Given the description of an element on the screen output the (x, y) to click on. 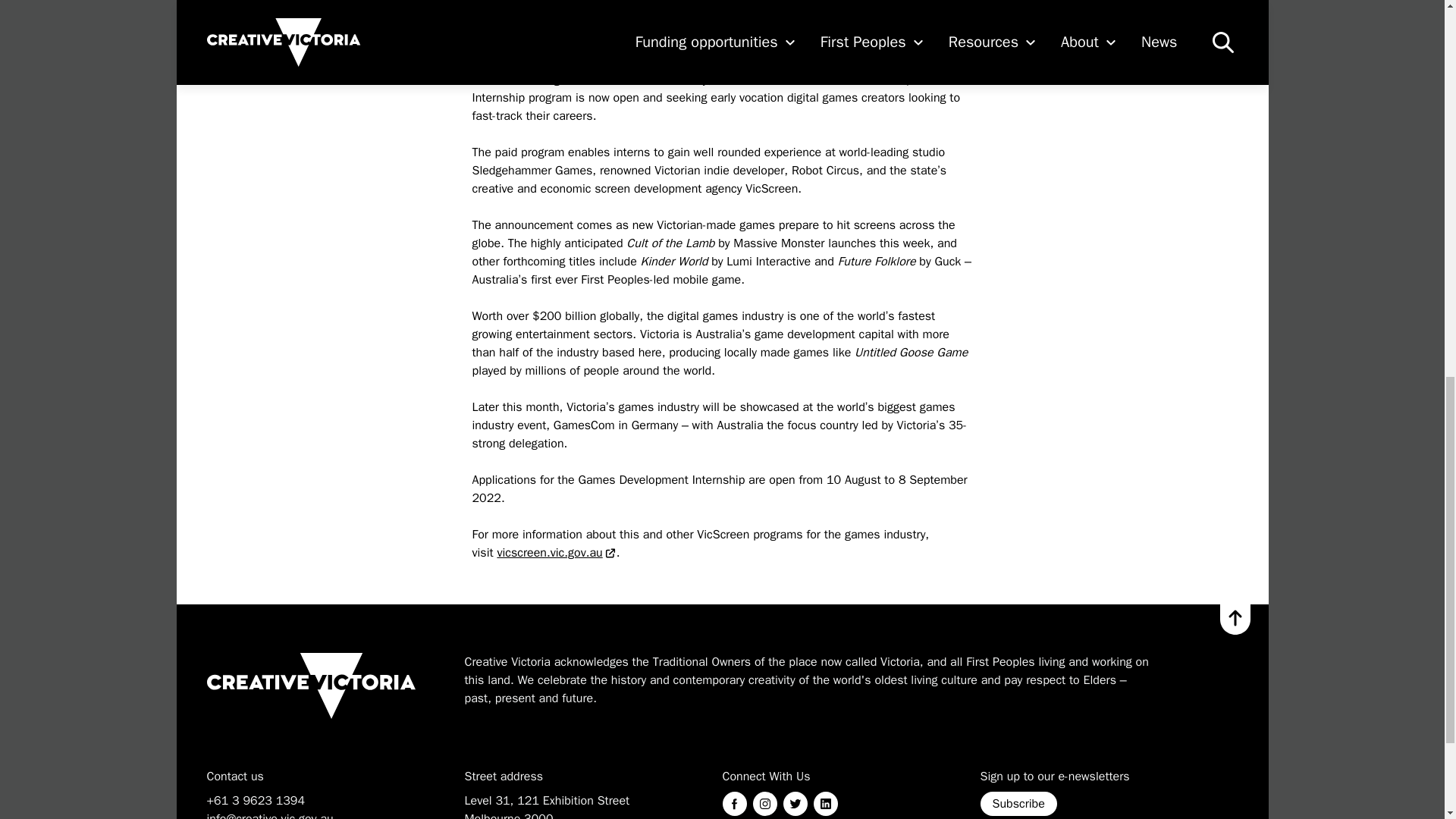
Visit the Creative Victoria homepage (310, 685)
Visit the Creative Victoria Facebook page (733, 803)
Opens VicScreen (555, 552)
Visit the Creative Victoria LinkedIn page (824, 803)
vicscreen.vic.gov.au (555, 552)
Visit the Creative Victoria Instagram page (764, 803)
Visit the Creative Victoria Twitter page (794, 803)
Go back to top of page (1234, 619)
Subscribe (1018, 803)
